Given the description of an element on the screen output the (x, y) to click on. 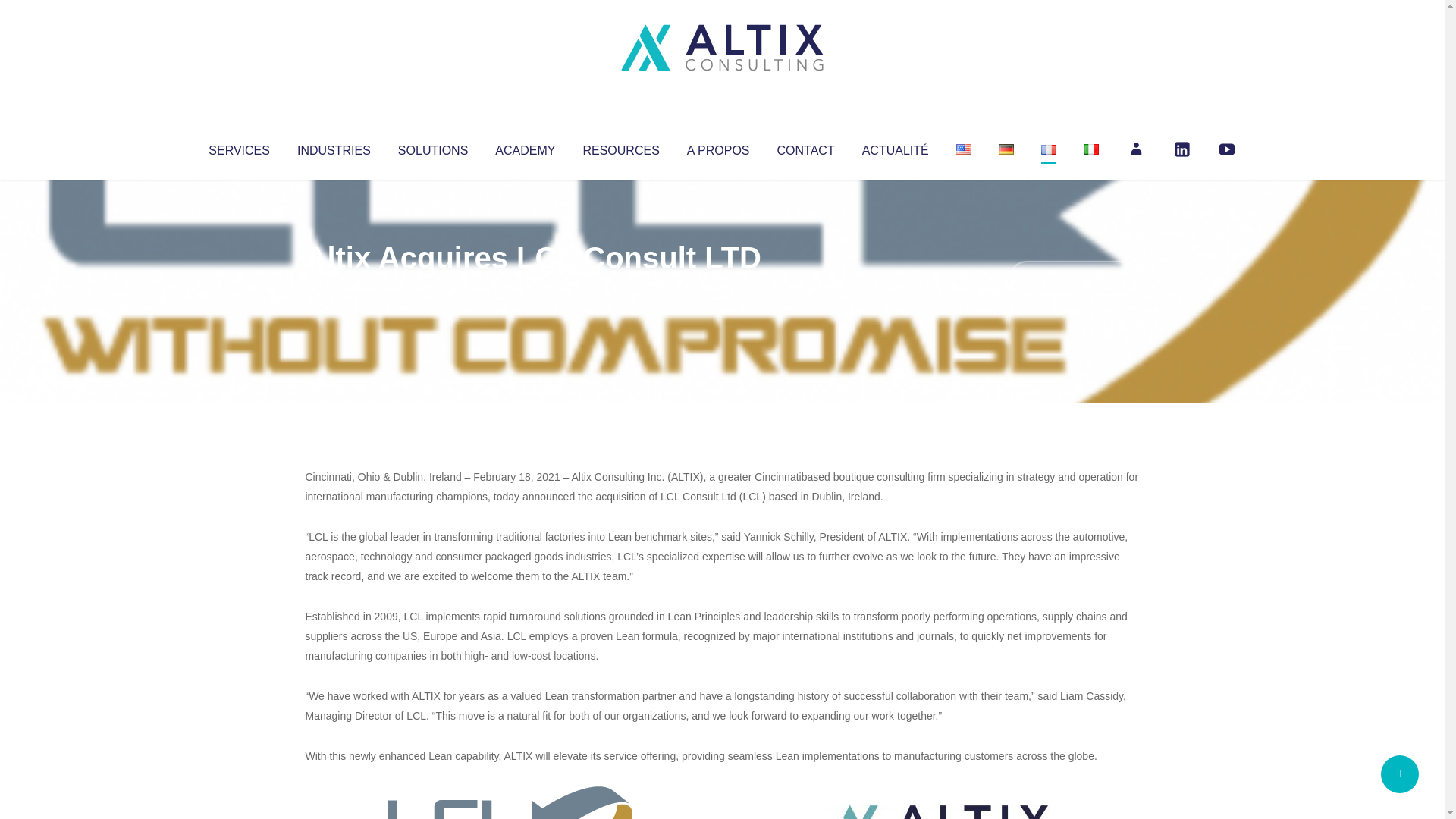
Uncategorized (530, 287)
RESOURCES (620, 146)
A PROPOS (718, 146)
ACADEMY (524, 146)
SERVICES (238, 146)
Articles par Altix (333, 287)
No Comments (1073, 278)
SOLUTIONS (432, 146)
INDUSTRIES (334, 146)
Altix (333, 287)
